Given the description of an element on the screen output the (x, y) to click on. 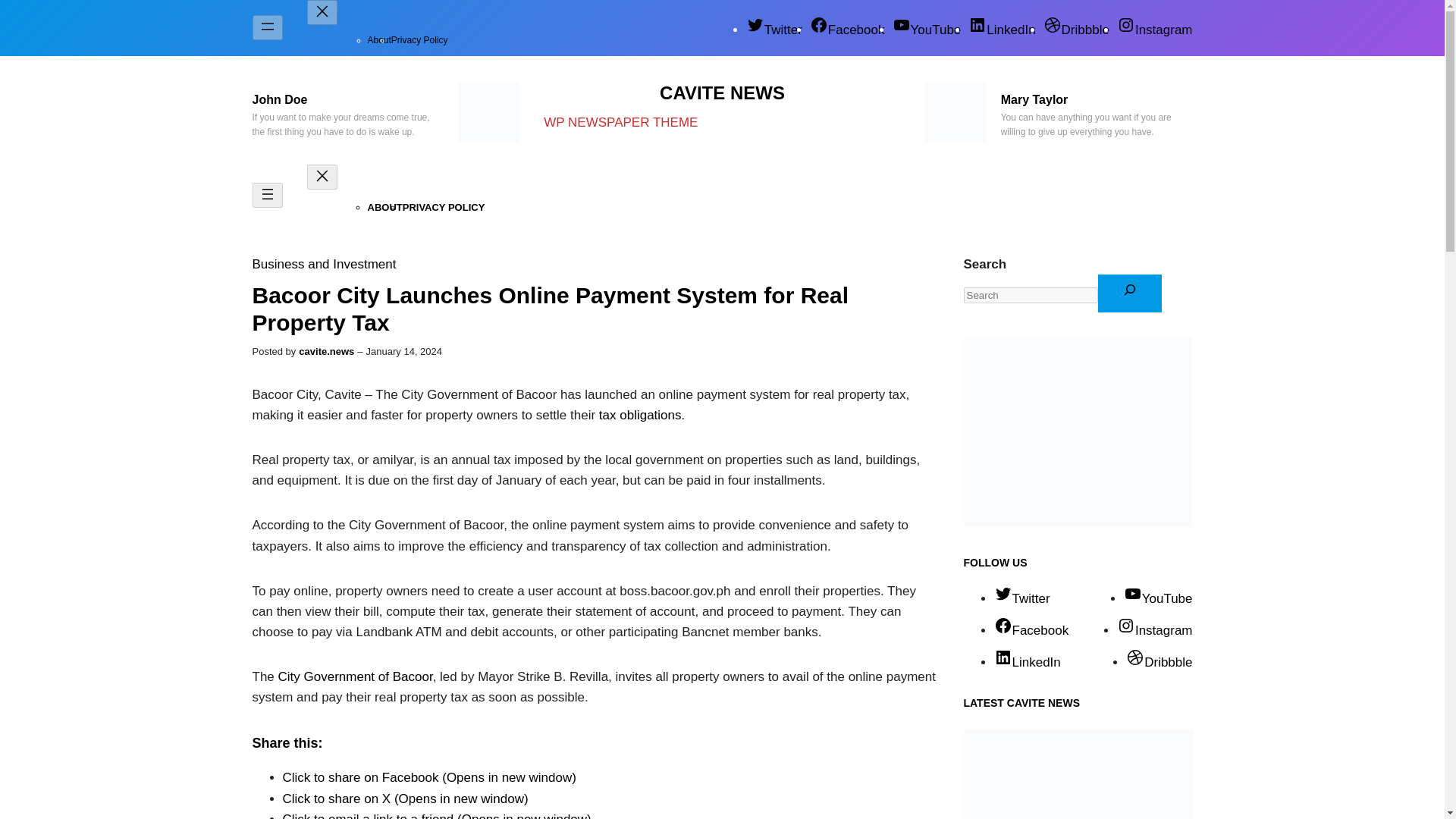
PRIVACY POLICY (443, 206)
Click to share on Facebook (428, 777)
ABOUT (383, 206)
About (378, 40)
Click to email a link to a friend (436, 815)
Dribbble (1076, 29)
Business and Investment (323, 264)
City Government of Bacoor (355, 676)
YouTube (925, 29)
tax obligations (639, 414)
Twitter (773, 29)
LinkedIn (1001, 29)
CAVITE NEWS (721, 92)
Click to share on X (404, 798)
Facebook (847, 29)
